Given the description of an element on the screen output the (x, y) to click on. 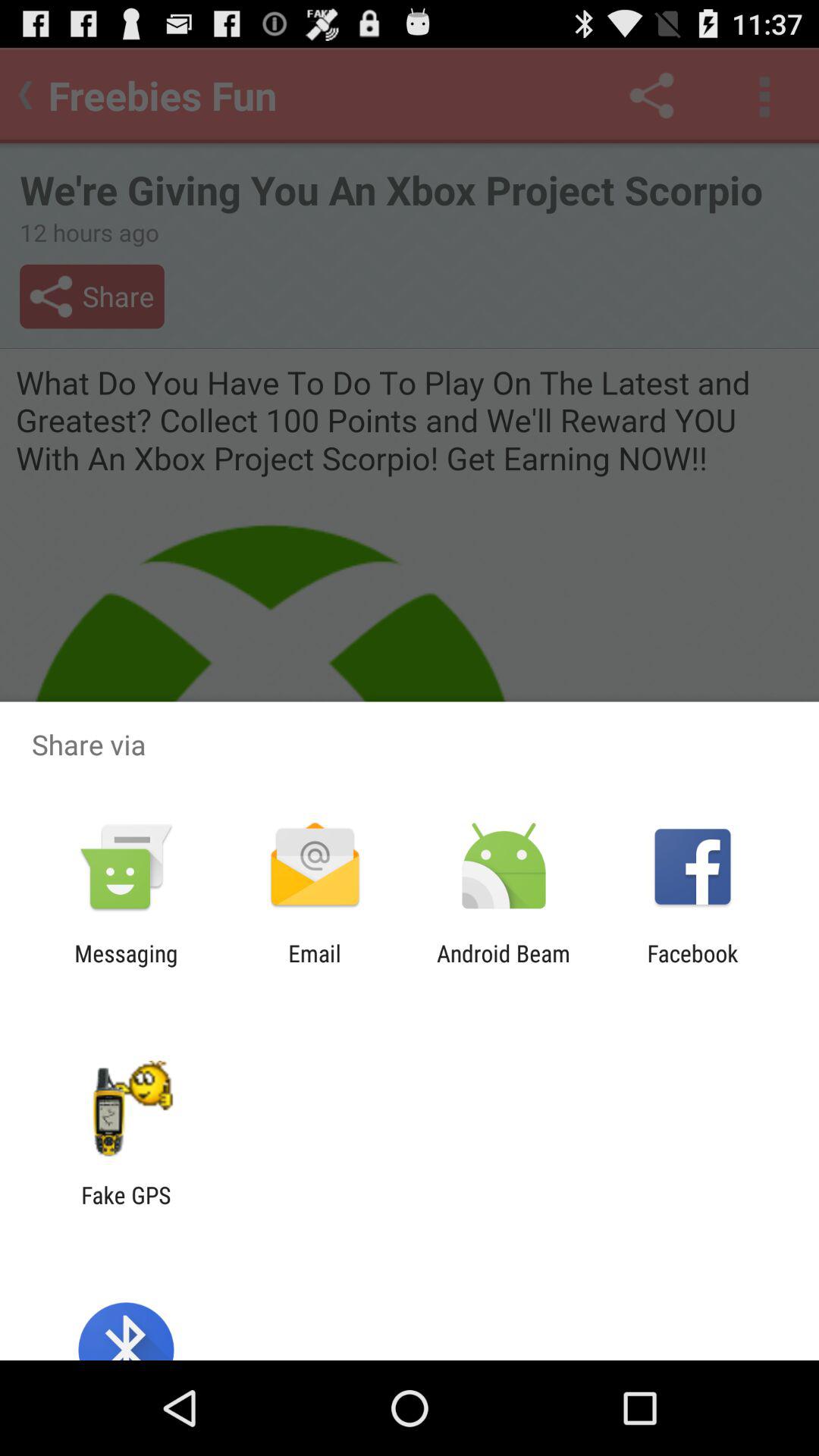
press the icon next to the messaging (314, 966)
